Given the description of an element on the screen output the (x, y) to click on. 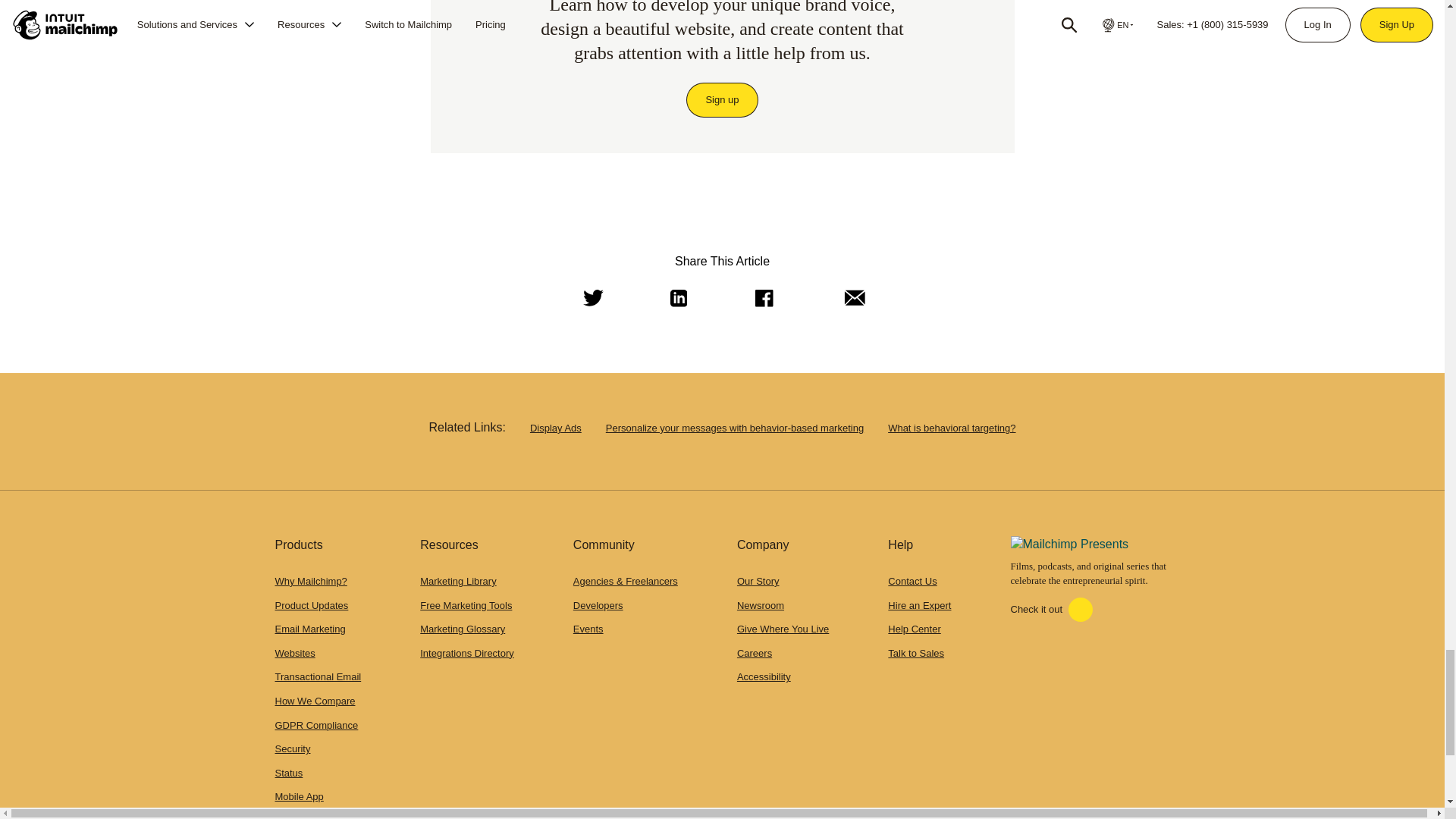
Sign up (722, 100)
Share this article on Twitter (590, 298)
Share this article on Facebook (762, 298)
